Given the description of an element on the screen output the (x, y) to click on. 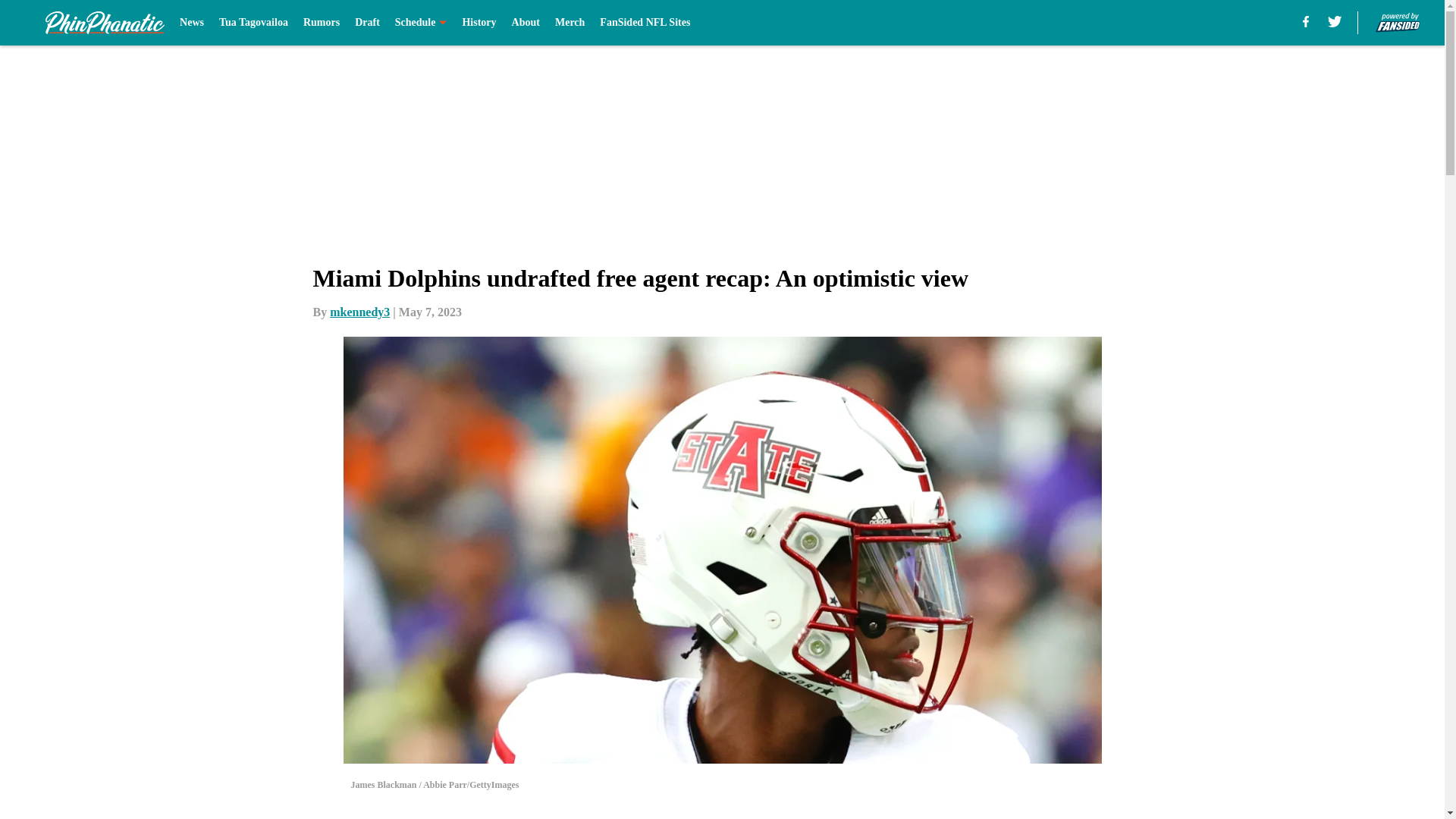
Merch (569, 22)
About (526, 22)
Tua Tagovailoa (253, 22)
History (478, 22)
FanSided NFL Sites (644, 22)
News (191, 22)
Rumors (320, 22)
mkennedy3 (360, 311)
Draft (367, 22)
